Given the description of an element on the screen output the (x, y) to click on. 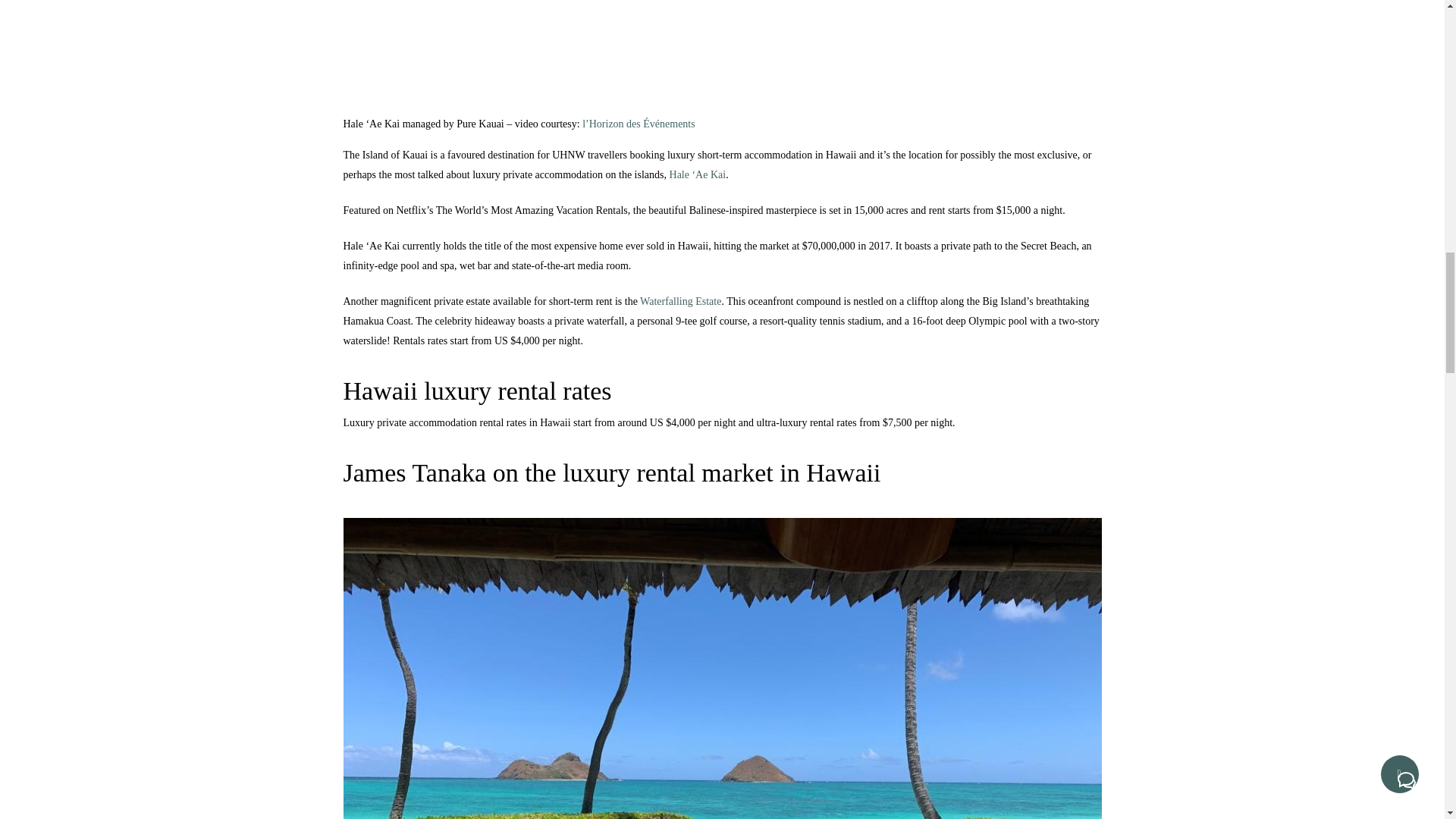
Waterfalling Estate (680, 301)
